Given the description of an element on the screen output the (x, y) to click on. 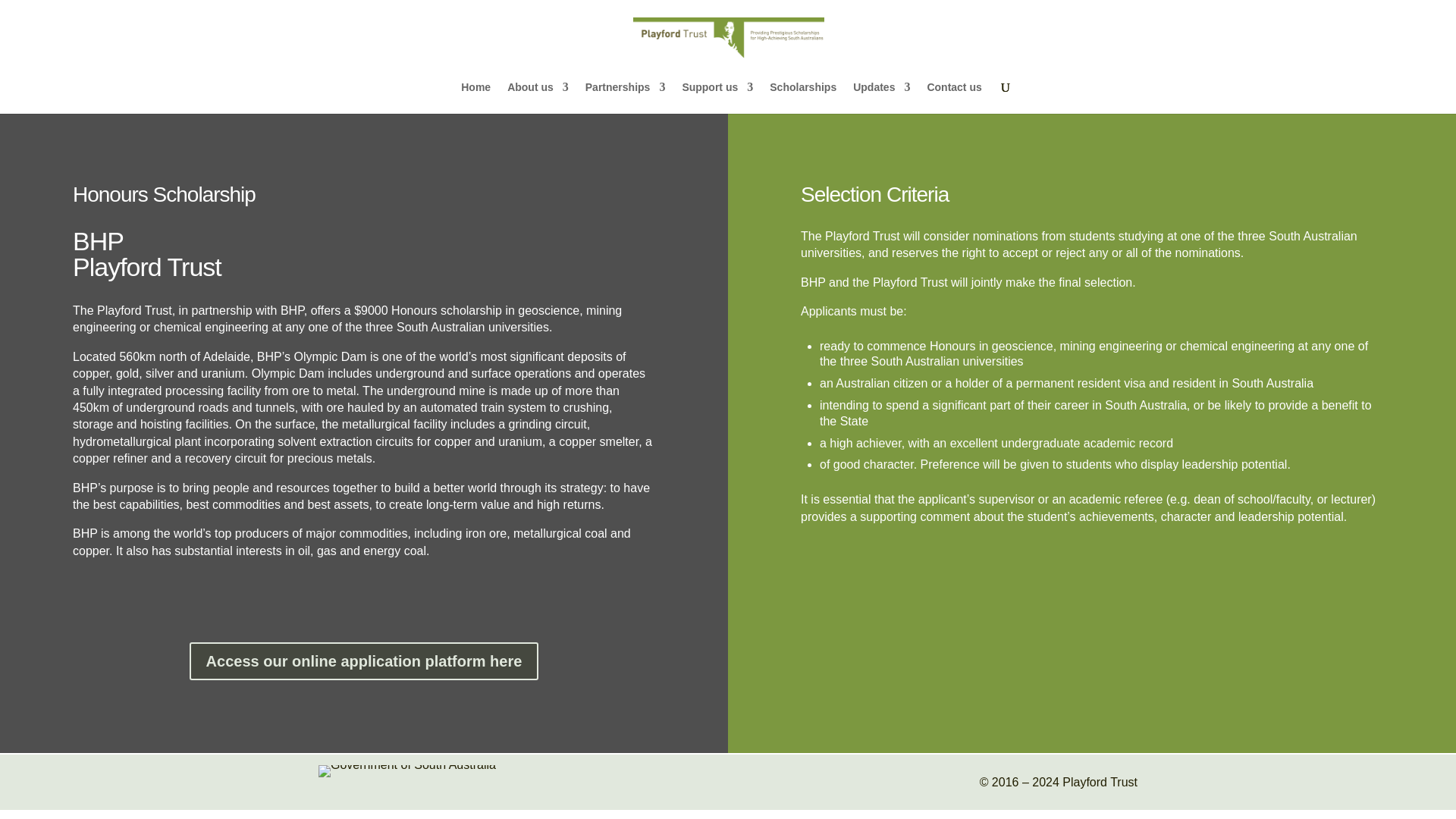
Government of South Australia (407, 770)
Access our online application platform here (363, 661)
Contact us (953, 97)
Scholarships (802, 97)
About us (537, 97)
Support us (716, 97)
Updates (881, 97)
Partnerships (625, 97)
Home (475, 97)
